Given the description of an element on the screen output the (x, y) to click on. 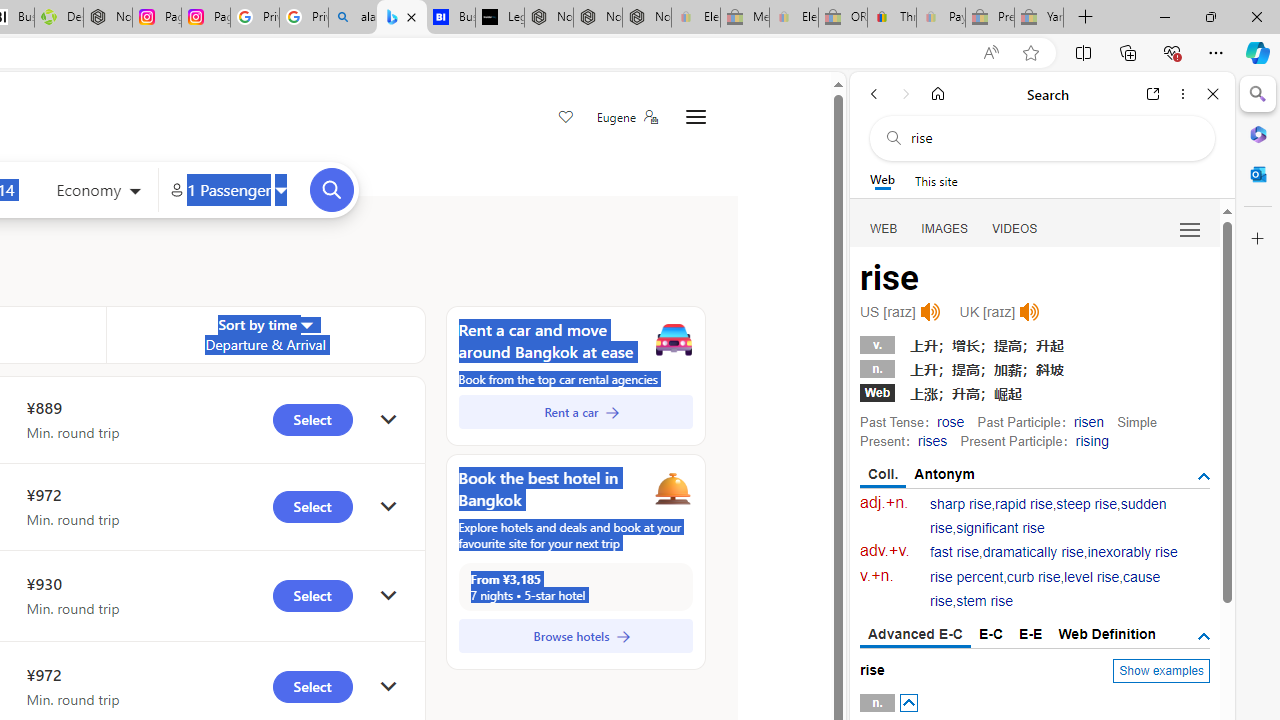
Eugene (626, 117)
WEB (884, 228)
sharp rise (961, 503)
risen (1088, 421)
